Given the description of an element on the screen output the (x, y) to click on. 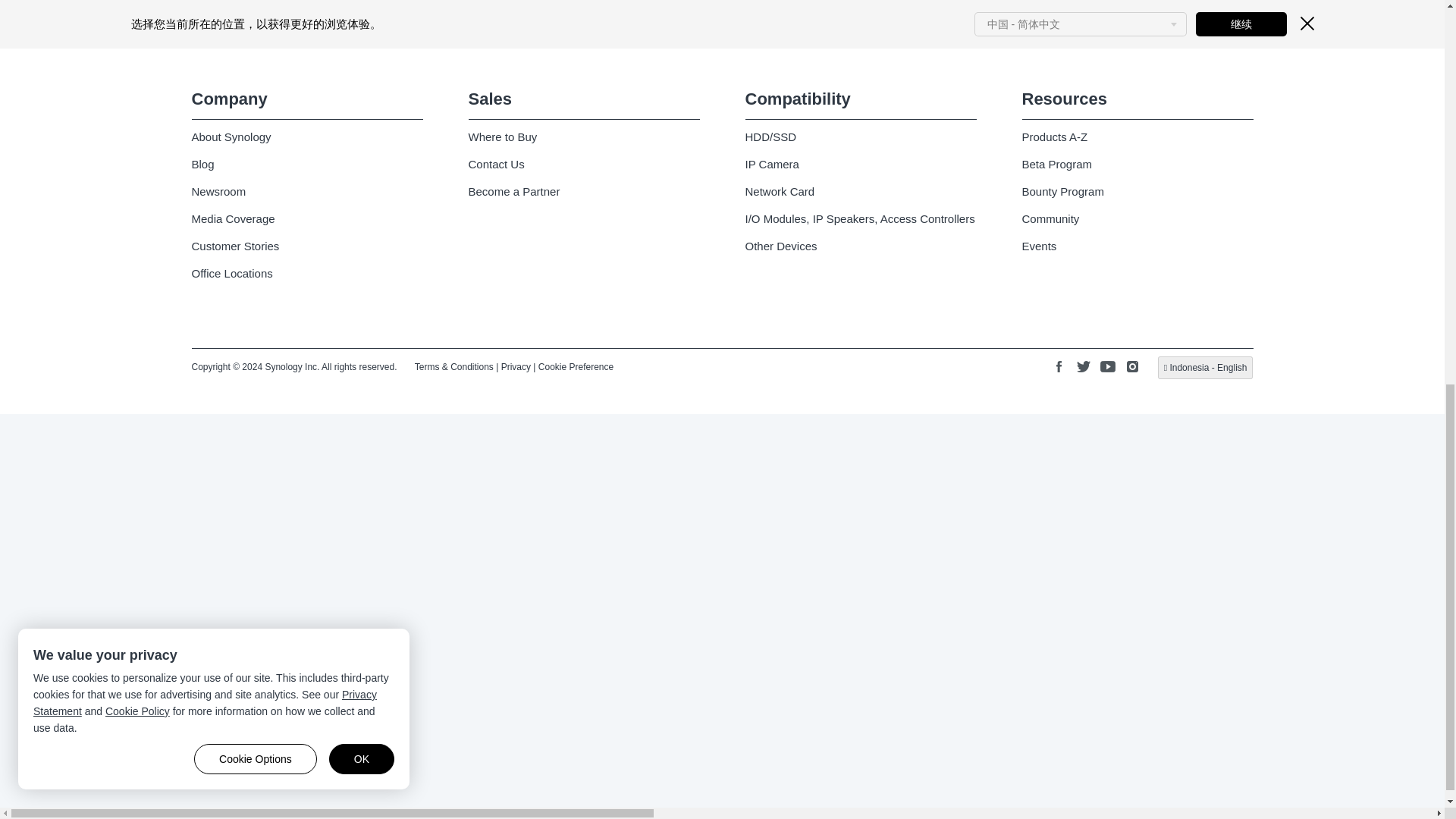
Navigate to Knowledge Center (811, 23)
YouTube (1107, 367)
Facebook (1058, 367)
Privacy (515, 366)
Twitter (1083, 367)
Navigate to NVR Selector (632, 23)
Navigate to NAS Selector (272, 23)
Navigate to Downloads (991, 23)
Navigate to RAID Calculator (451, 23)
Navigate to Community (1171, 23)
